Given the description of an element on the screen output the (x, y) to click on. 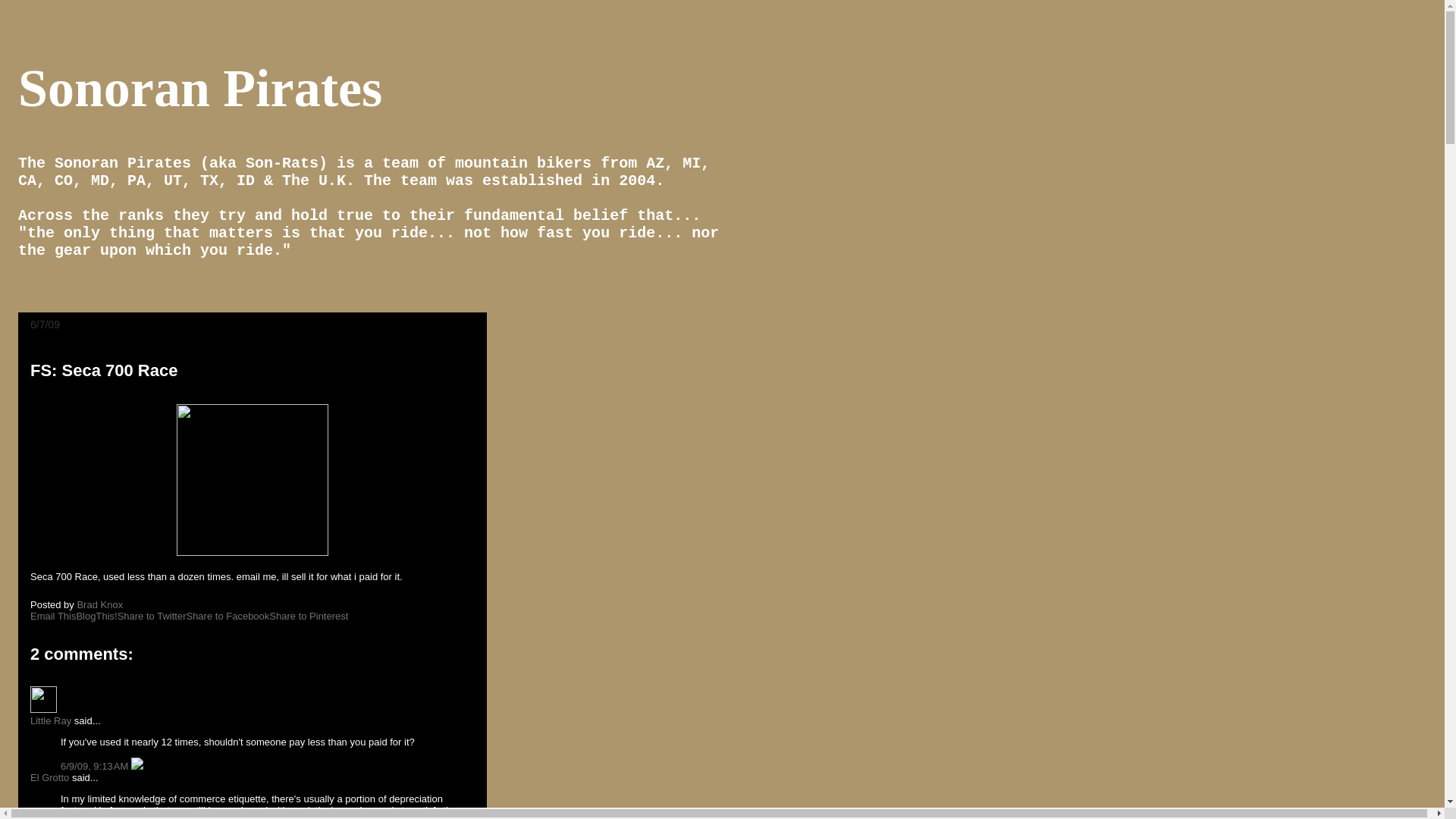
Share to Pinterest (308, 615)
Email Post (132, 604)
author profile (101, 604)
Delete Comment (136, 766)
Share to Pinterest (308, 615)
Email This (52, 615)
Share to Facebook (227, 615)
Little Ray (50, 720)
BlogThis! (95, 615)
Little Ray (43, 699)
Share to Twitter (151, 615)
Email This (52, 615)
comment permalink (96, 766)
BlogThis! (95, 615)
El Grotto (49, 777)
